Given the description of an element on the screen output the (x, y) to click on. 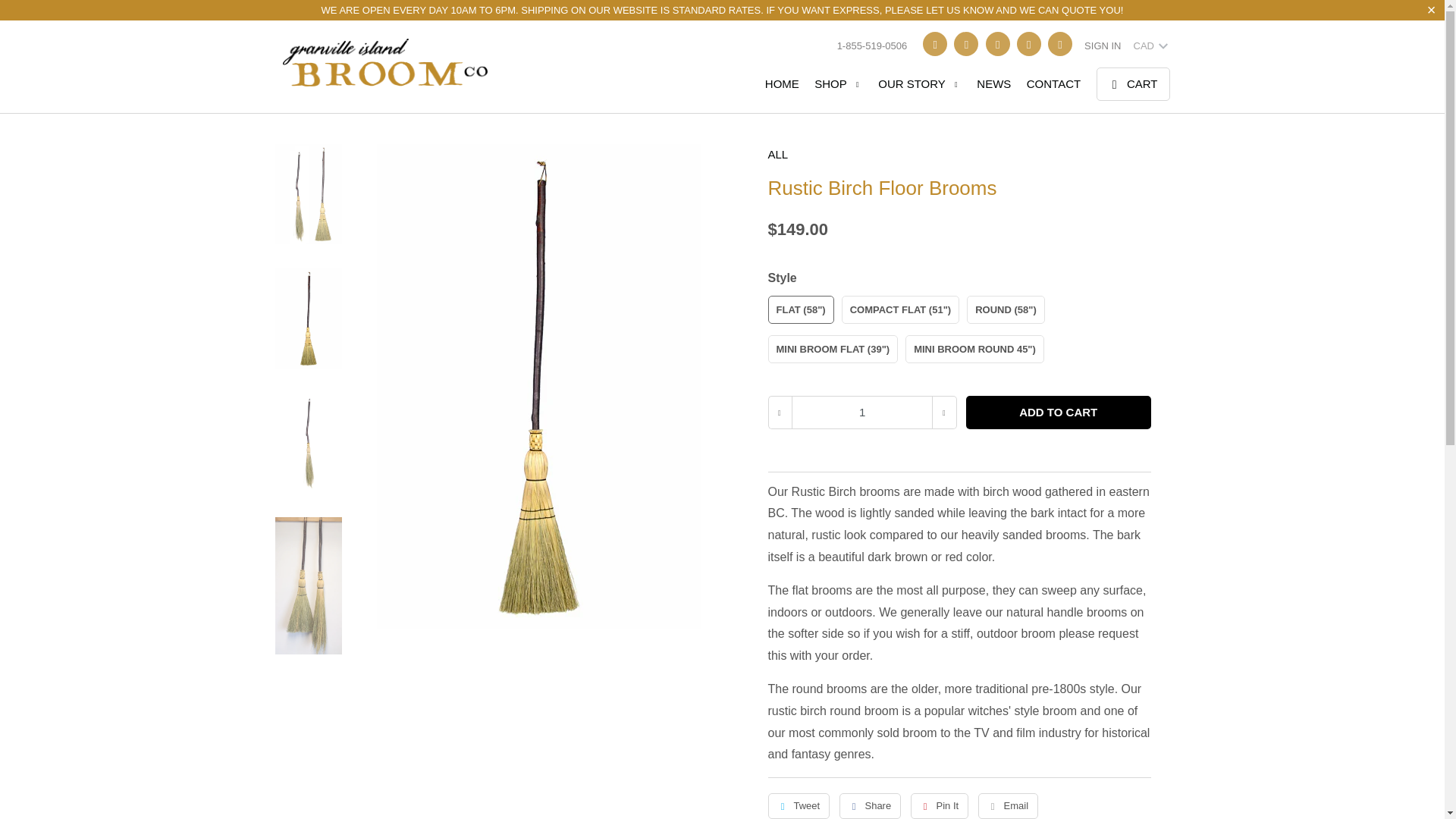
NEWS (993, 87)
ADD TO CART (1058, 412)
CART (1133, 83)
Cart (1133, 83)
ALL (958, 158)
1-855-519-0506 (872, 45)
Email Granville Island Broom Co. (1059, 43)
Granville Island Broom Co. on Twitter (935, 43)
All (958, 158)
Granville Island Broom Co. on Pinterest (997, 43)
